Given the description of an element on the screen output the (x, y) to click on. 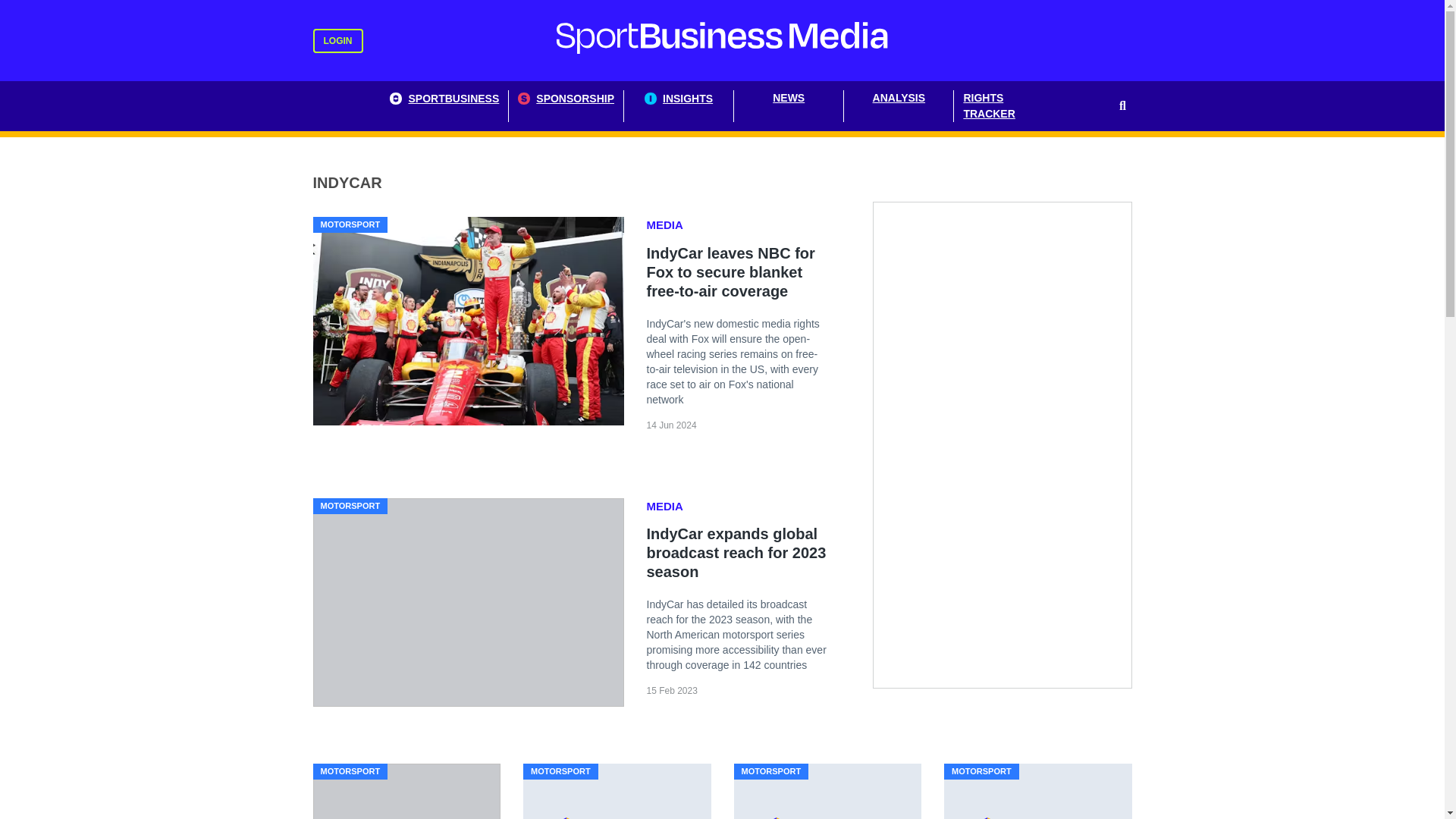
ANALYSIS (899, 106)
SPORTBUSINESS (444, 106)
MOTORSPORT (560, 771)
NEWS (789, 106)
MOTORSPORT (350, 224)
MEDIA (665, 225)
MEDIA (665, 506)
MOTORSPORT (350, 771)
IndyCar expands global broadcast reach for 2023 season (735, 552)
